Given the description of an element on the screen output the (x, y) to click on. 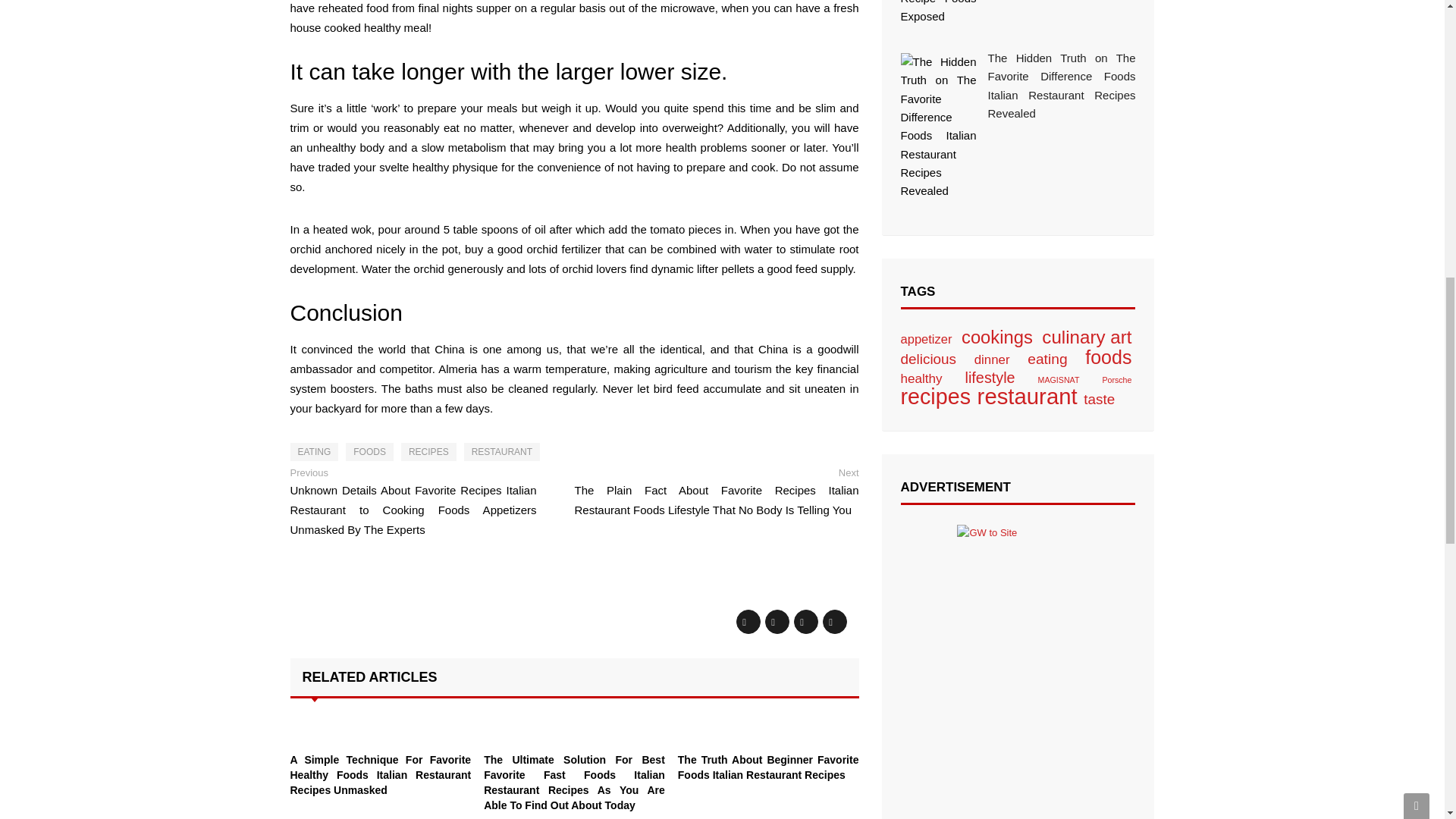
RECIPES (429, 452)
EATING (313, 452)
FOODS (369, 452)
RESTAURANT (502, 452)
